Given the description of an element on the screen output the (x, y) to click on. 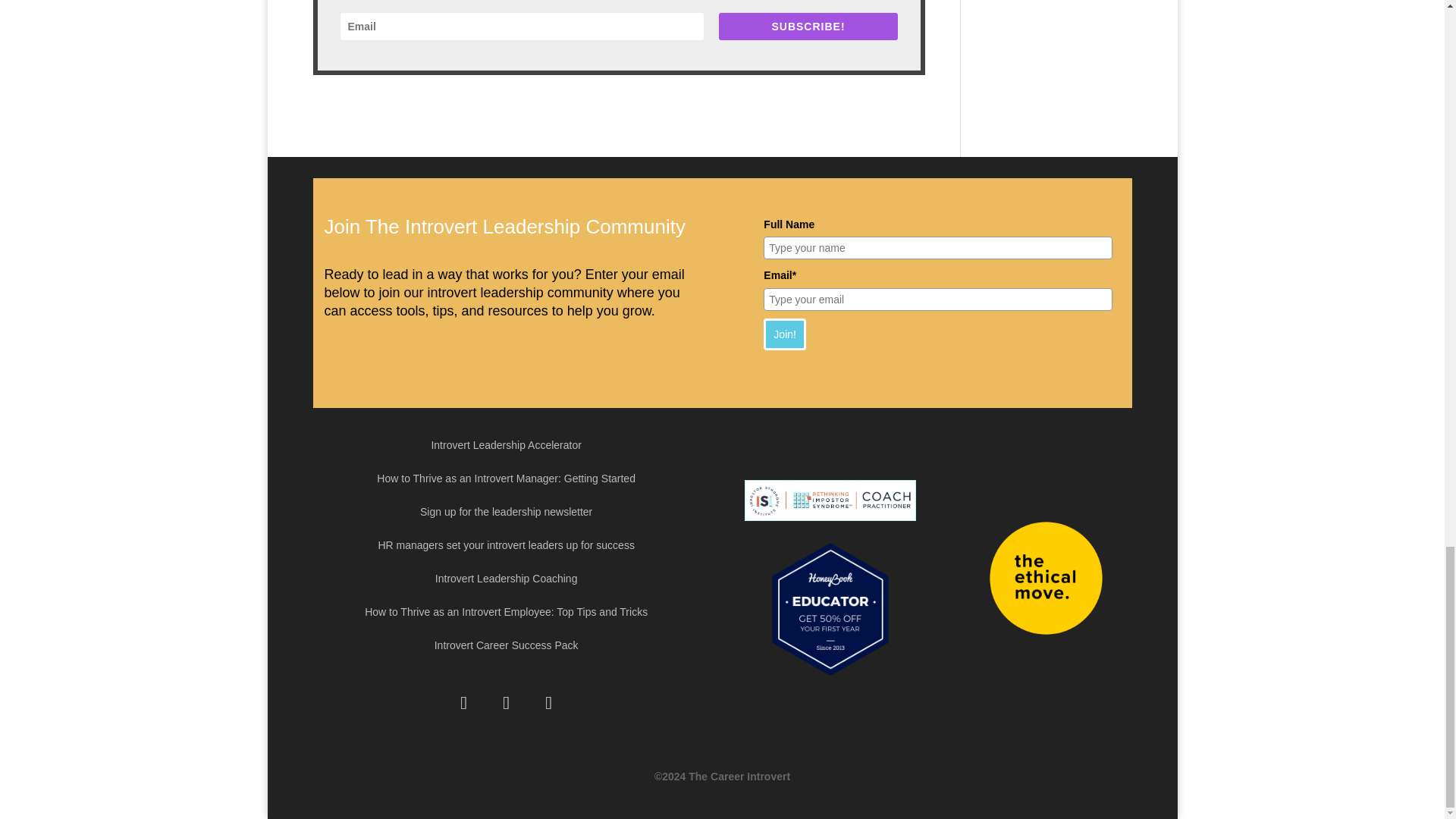
Introvert Leadership Coaching (506, 581)
Sign up for the leadership newsletter (506, 514)
Follow on Facebook (463, 702)
Join! (784, 333)
HR managers set your introvert leaders up for success (505, 547)
How to Thrive as an Introvert Manager: Getting Started (505, 481)
Introvert Leadership Accelerator (505, 447)
How to Thrive as an Introvert Employee: Top Tips and Tricks (506, 614)
Follow on X (505, 702)
Introvert Career Success Pack (505, 647)
